Given the description of an element on the screen output the (x, y) to click on. 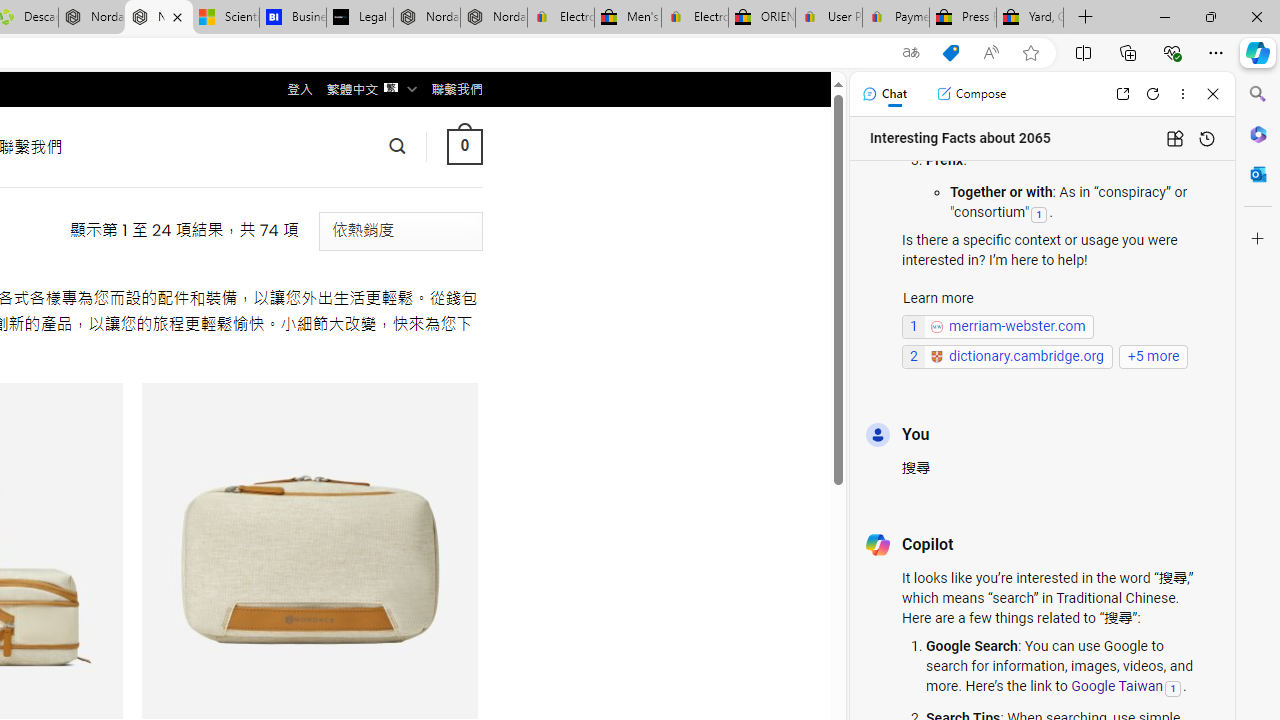
Outlook (1258, 174)
Minimize Search pane (1258, 94)
Show translate options (910, 53)
Open link in new tab (1122, 93)
